Given the description of an element on the screen output the (x, y) to click on. 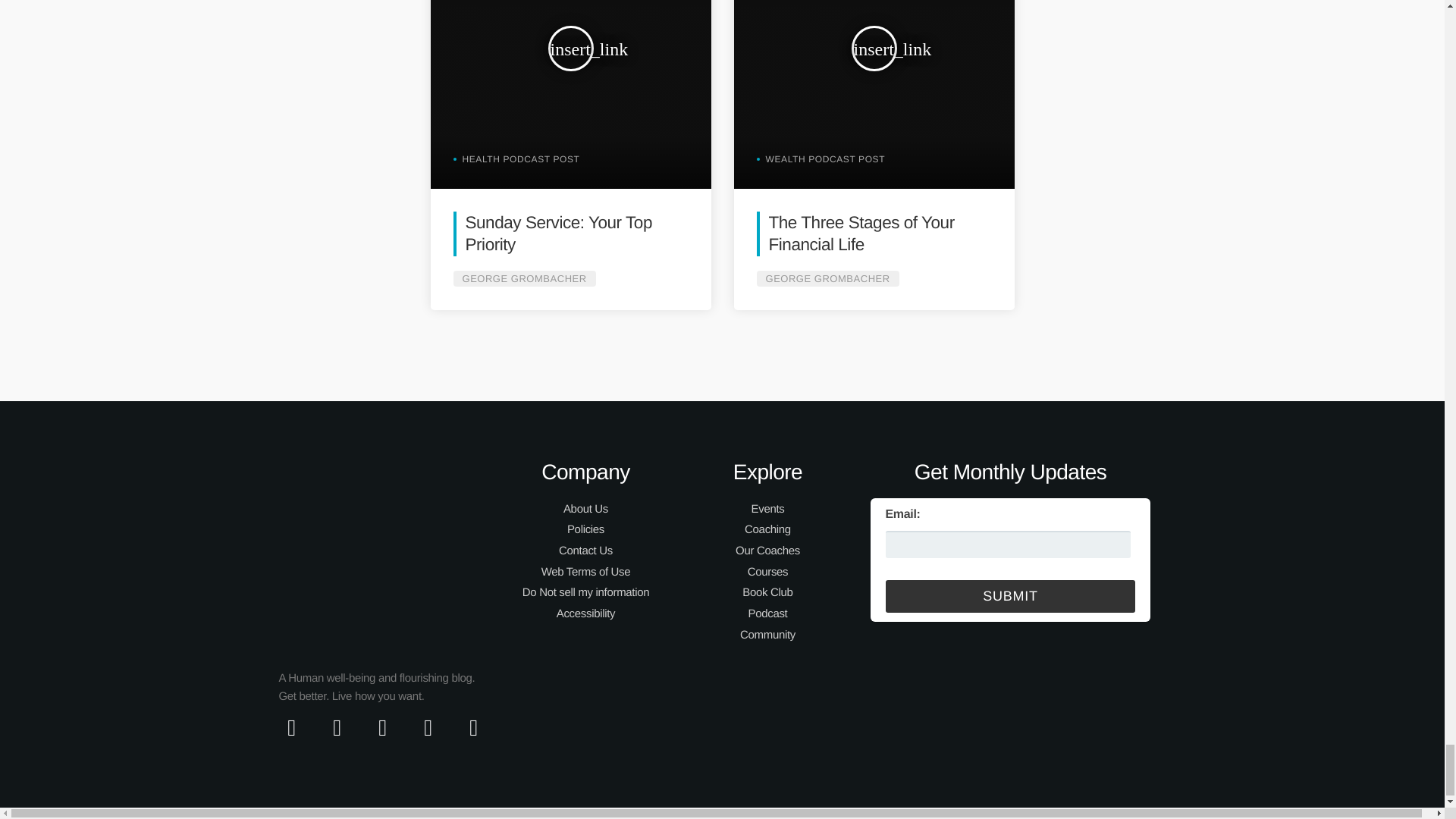
Submit (1010, 595)
